Given the description of an element on the screen output the (x, y) to click on. 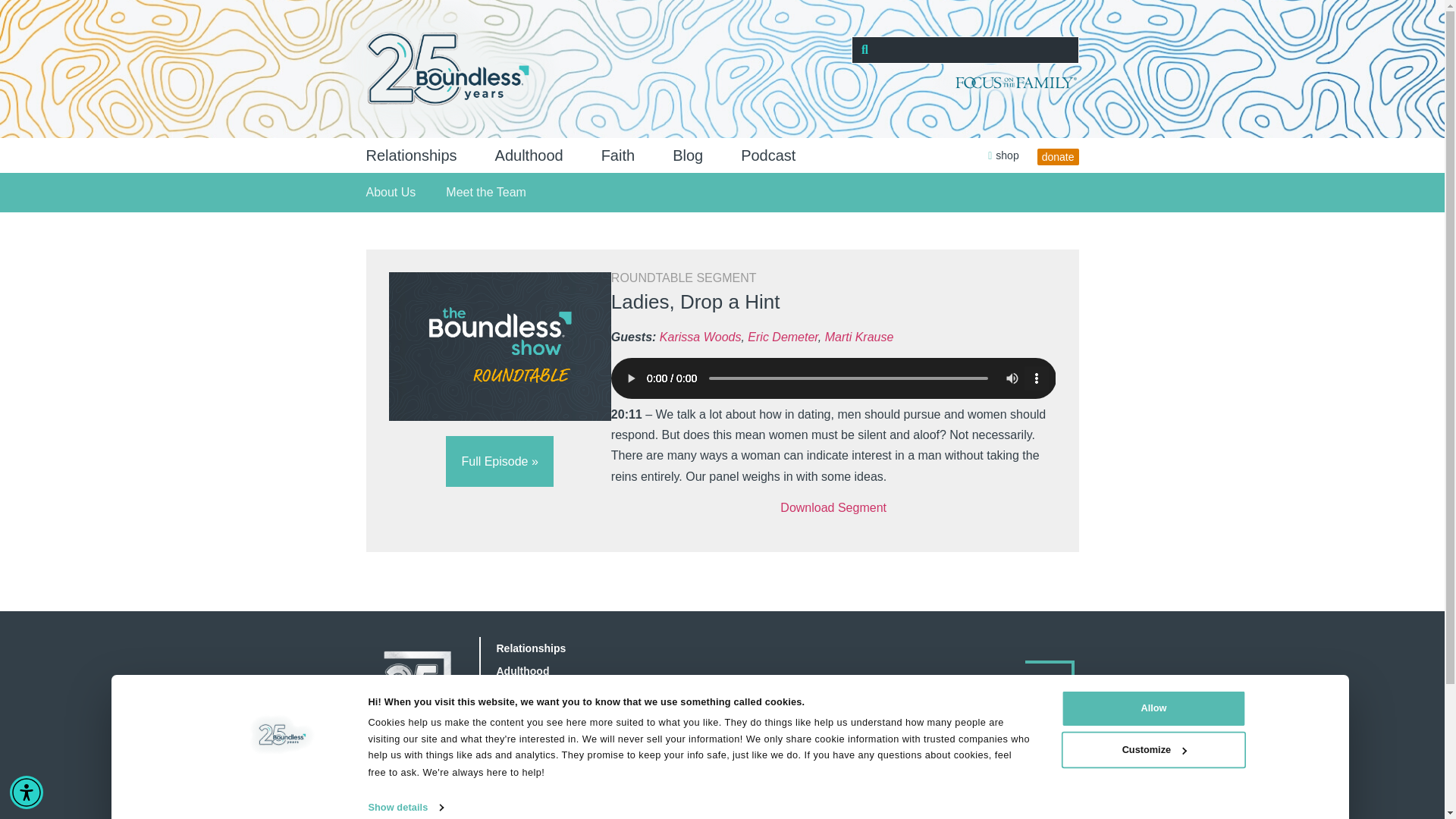
Accessibility Menu (26, 792)
Download Segment (833, 507)
Show details (412, 808)
